Given the description of an element on the screen output the (x, y) to click on. 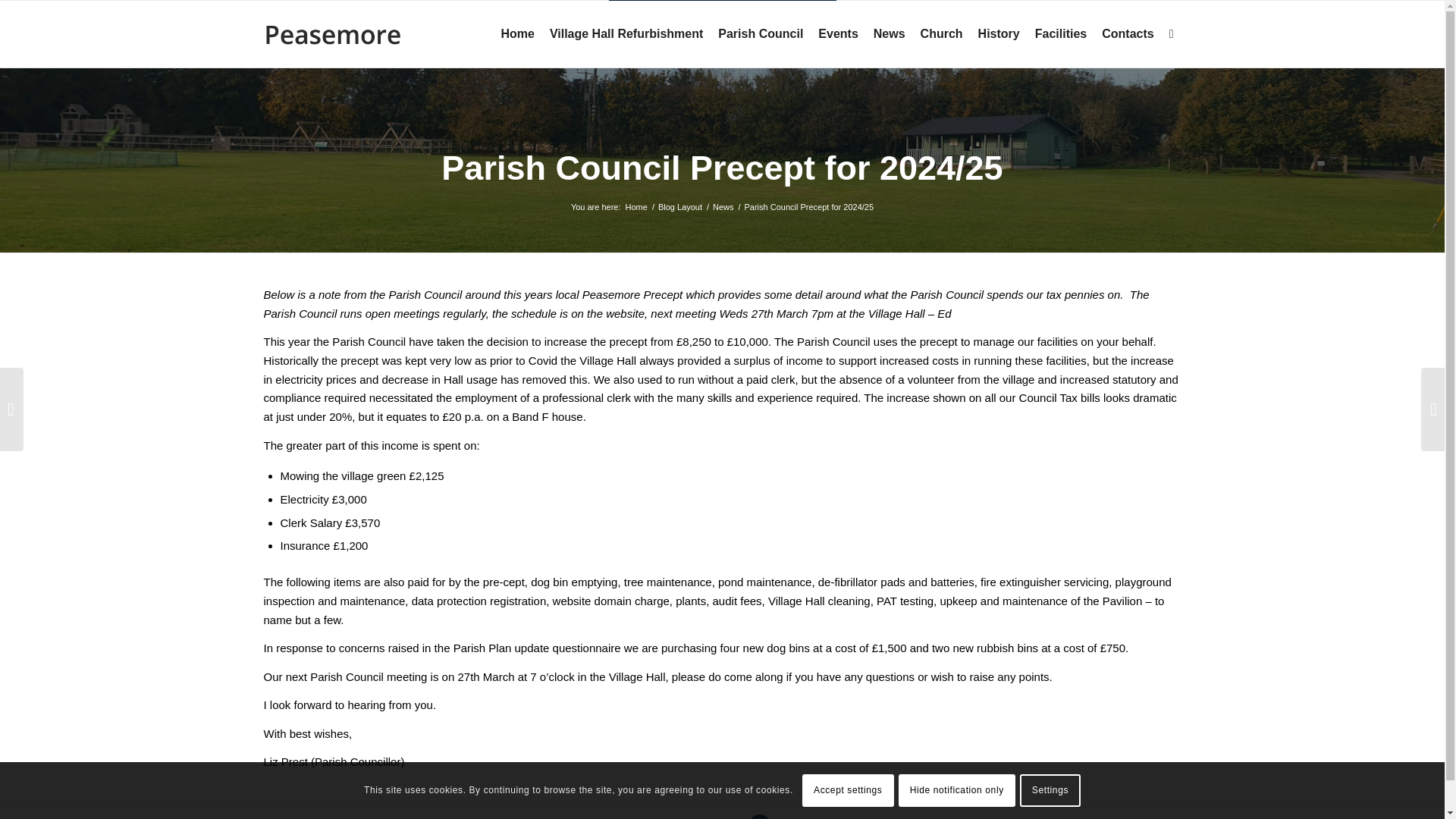
Village Hall Refurbishment (625, 33)
Parish Council (760, 33)
Facilities (1060, 33)
Contacts (1127, 33)
Peasemore Village (636, 206)
Home (636, 206)
Facebook (759, 816)
